Given the description of an element on the screen output the (x, y) to click on. 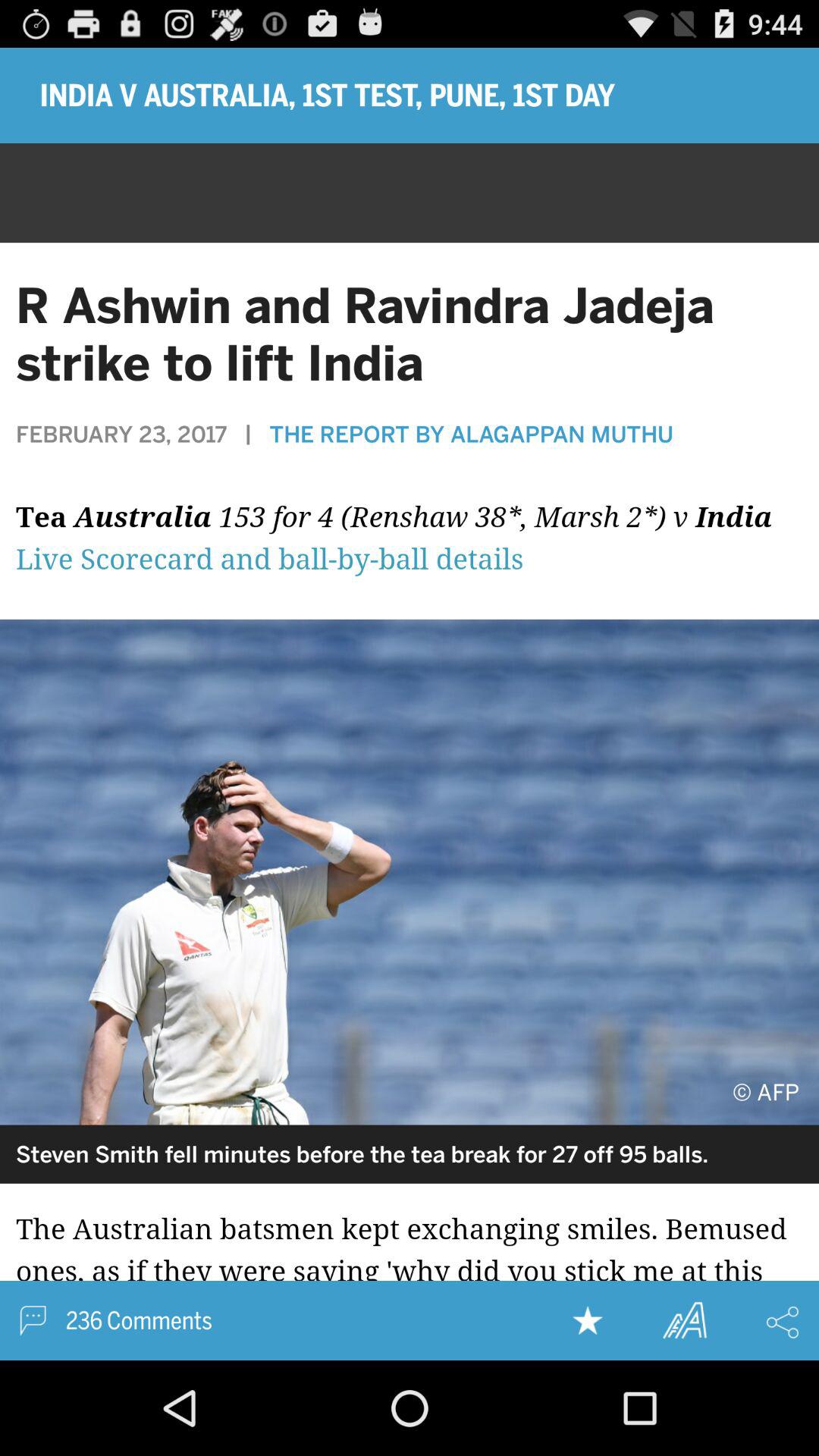
favorite the article (587, 1319)
